Given the description of an element on the screen output the (x, y) to click on. 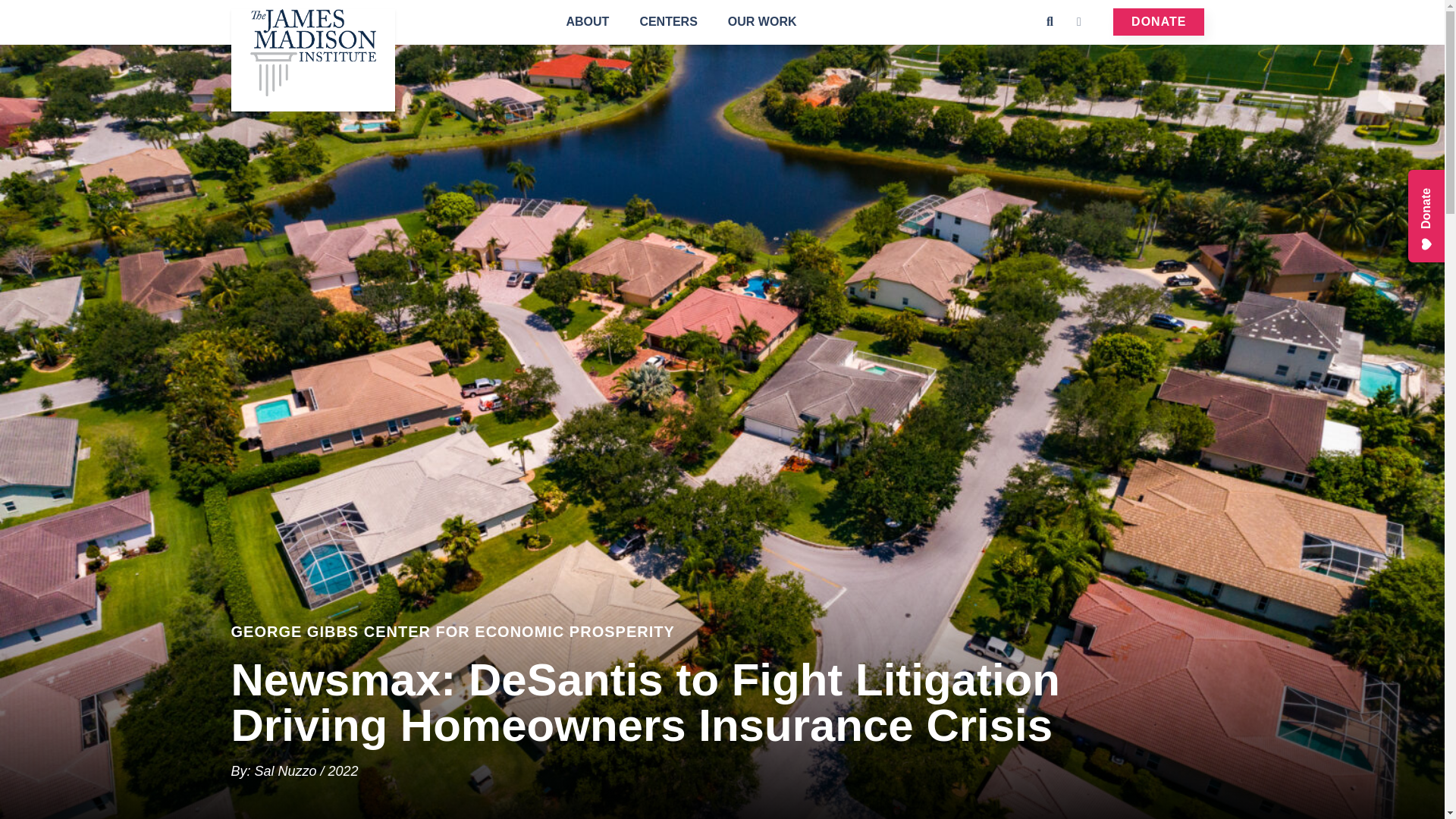
CENTERS (668, 21)
DONATE (1158, 22)
ABOUT (587, 21)
GEORGE GIBBS CENTER FOR ECONOMIC PROSPERITY (721, 631)
OUR WORK (762, 21)
